Given the description of an element on the screen output the (x, y) to click on. 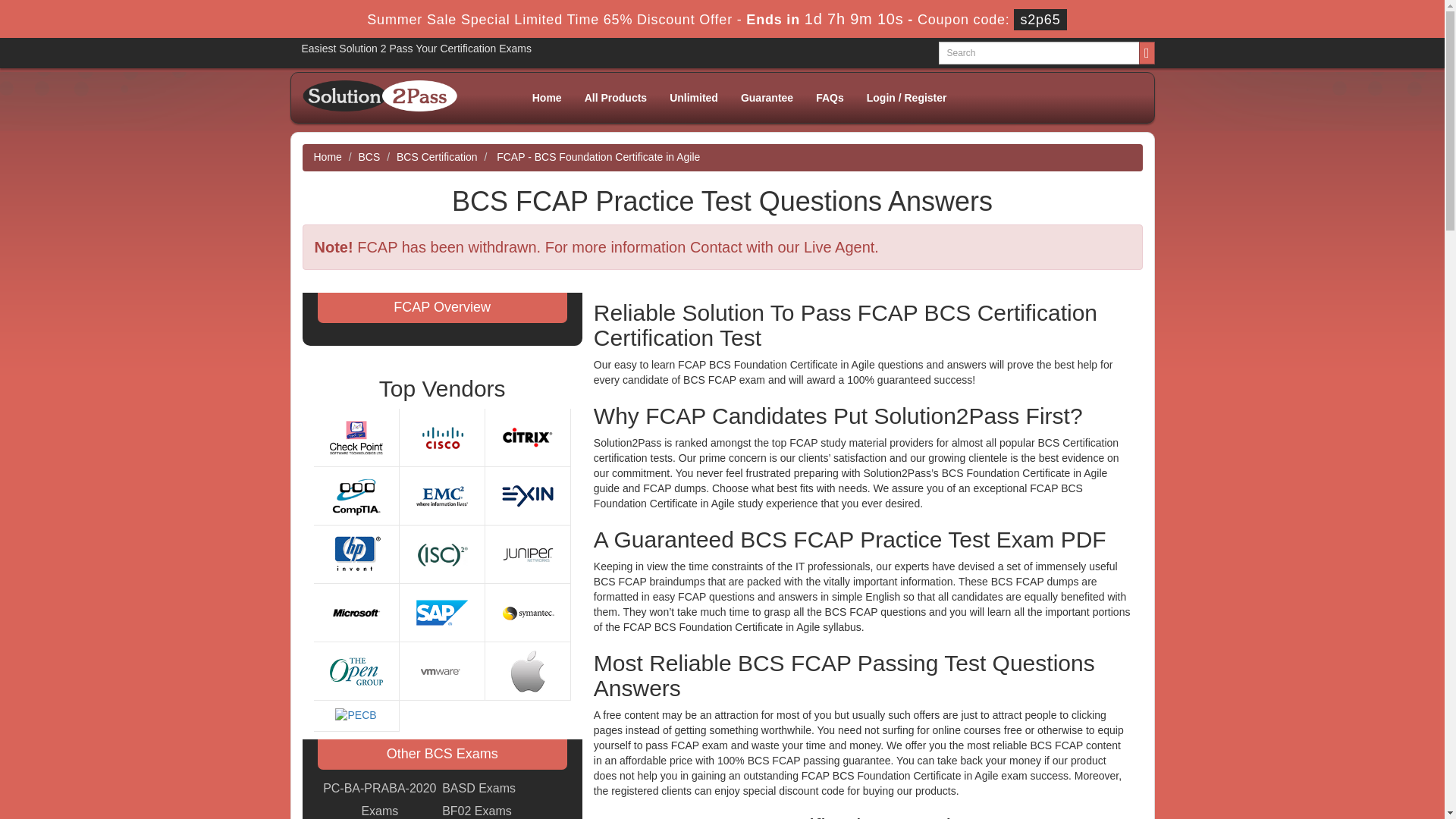
Unlimited (693, 97)
BF02 Exams (477, 809)
Guarantee (767, 97)
HP (356, 553)
ISC (441, 553)
BF02 (477, 809)
CompTIA (356, 494)
EMC (441, 494)
Microsoft (356, 612)
BASD Exams (478, 788)
Symantec (527, 612)
BCS (369, 156)
Citrix (527, 436)
BASD (478, 788)
Home (547, 97)
